Given the description of an element on the screen output the (x, y) to click on. 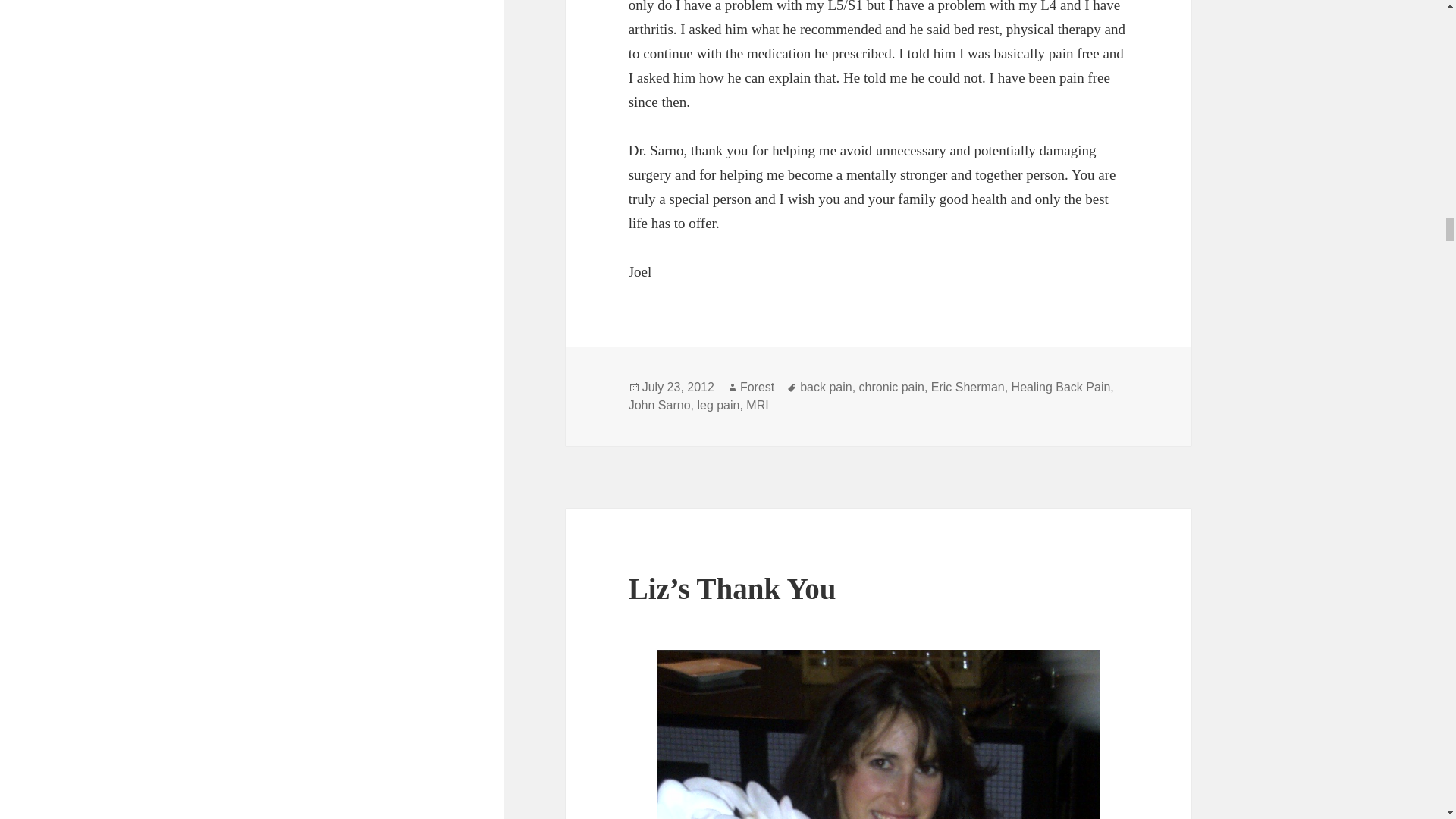
Liz's Picture (879, 734)
